Given the description of an element on the screen output the (x, y) to click on. 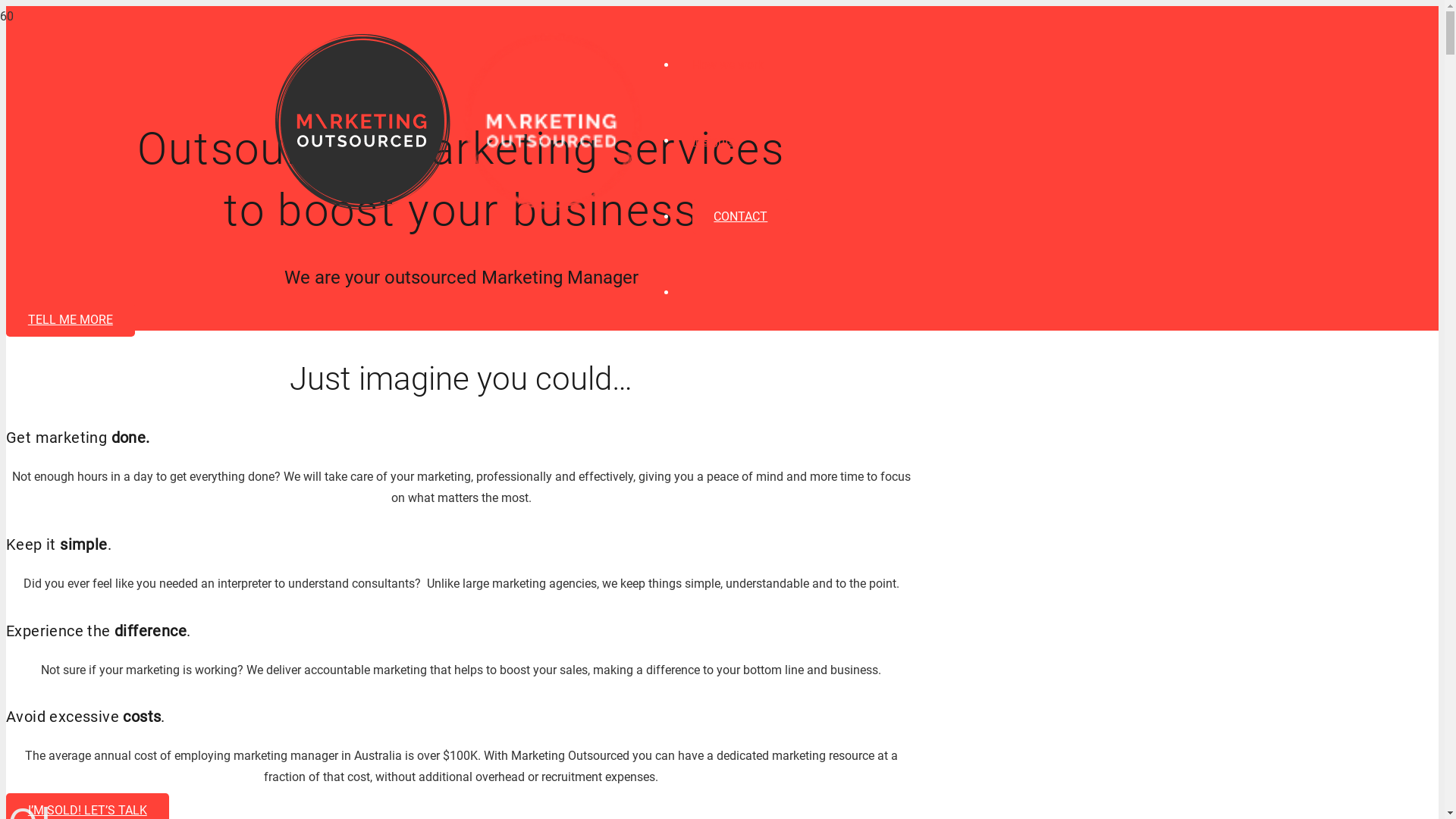
Insights Element type: text (712, 140)
CONTACT Element type: text (740, 216)
TELL ME MORE Element type: text (70, 319)
How we work Element type: text (727, 64)
